Given the description of an element on the screen output the (x, y) to click on. 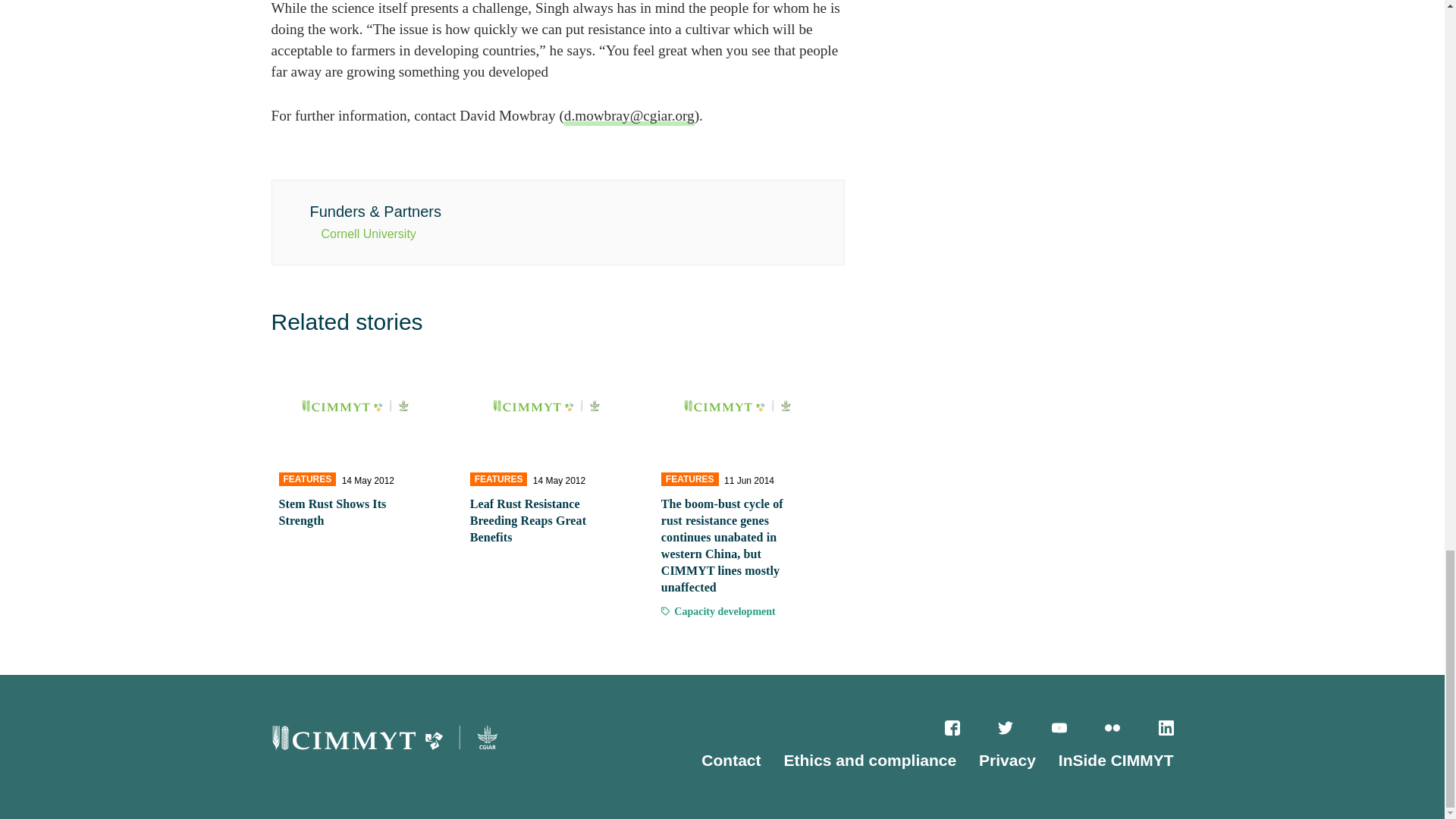
Privacy policy (1006, 760)
Contact us (730, 760)
